Given the description of an element on the screen output the (x, y) to click on. 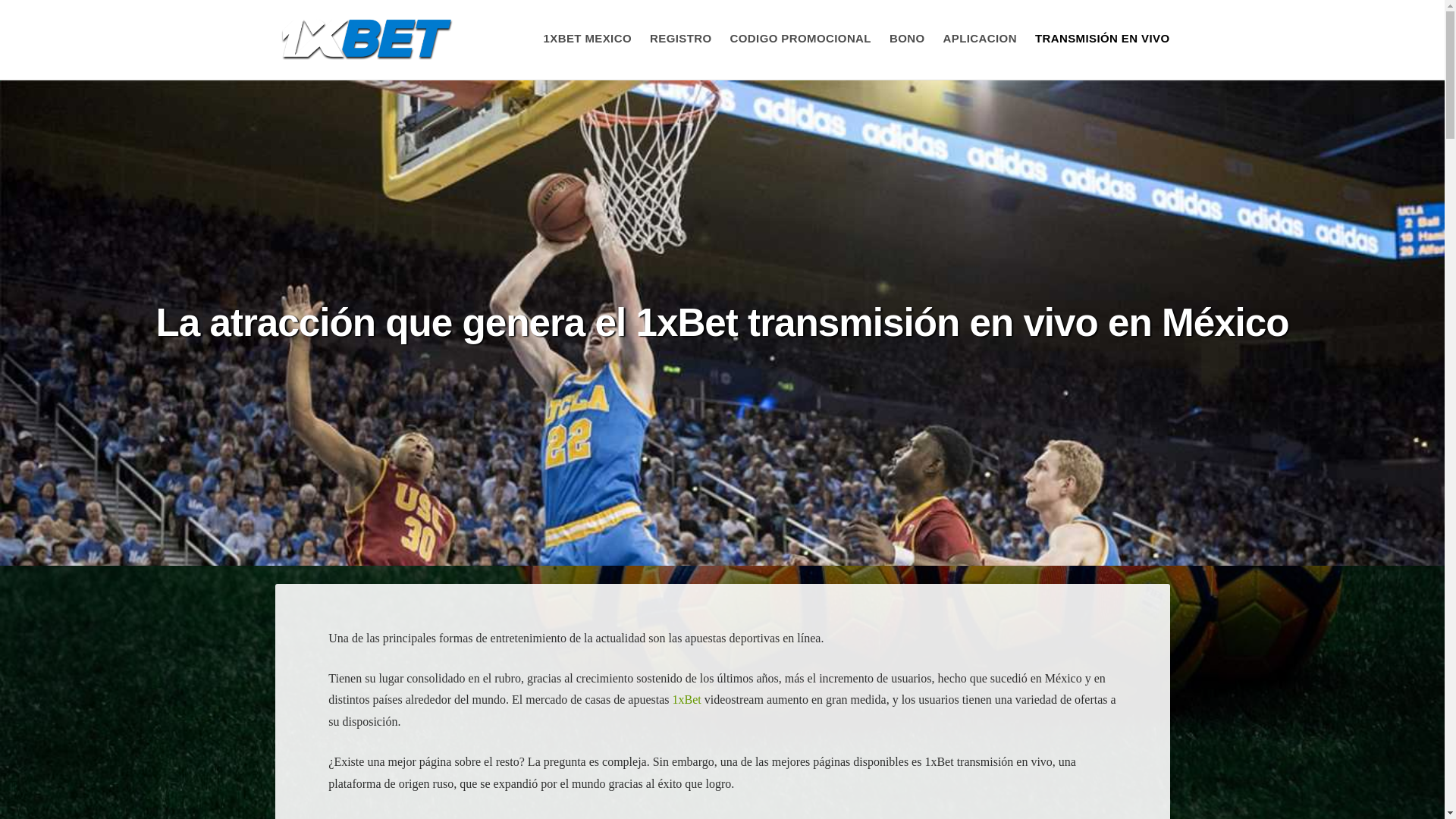
BONO Element type: text (907, 38)
APLICACION Element type: text (979, 38)
1xBet Element type: text (685, 699)
REGISTRO Element type: text (680, 38)
1XBET MEXICO Element type: text (586, 38)
CODIGO PROMOCIONAL Element type: text (800, 38)
